Given the description of an element on the screen output the (x, y) to click on. 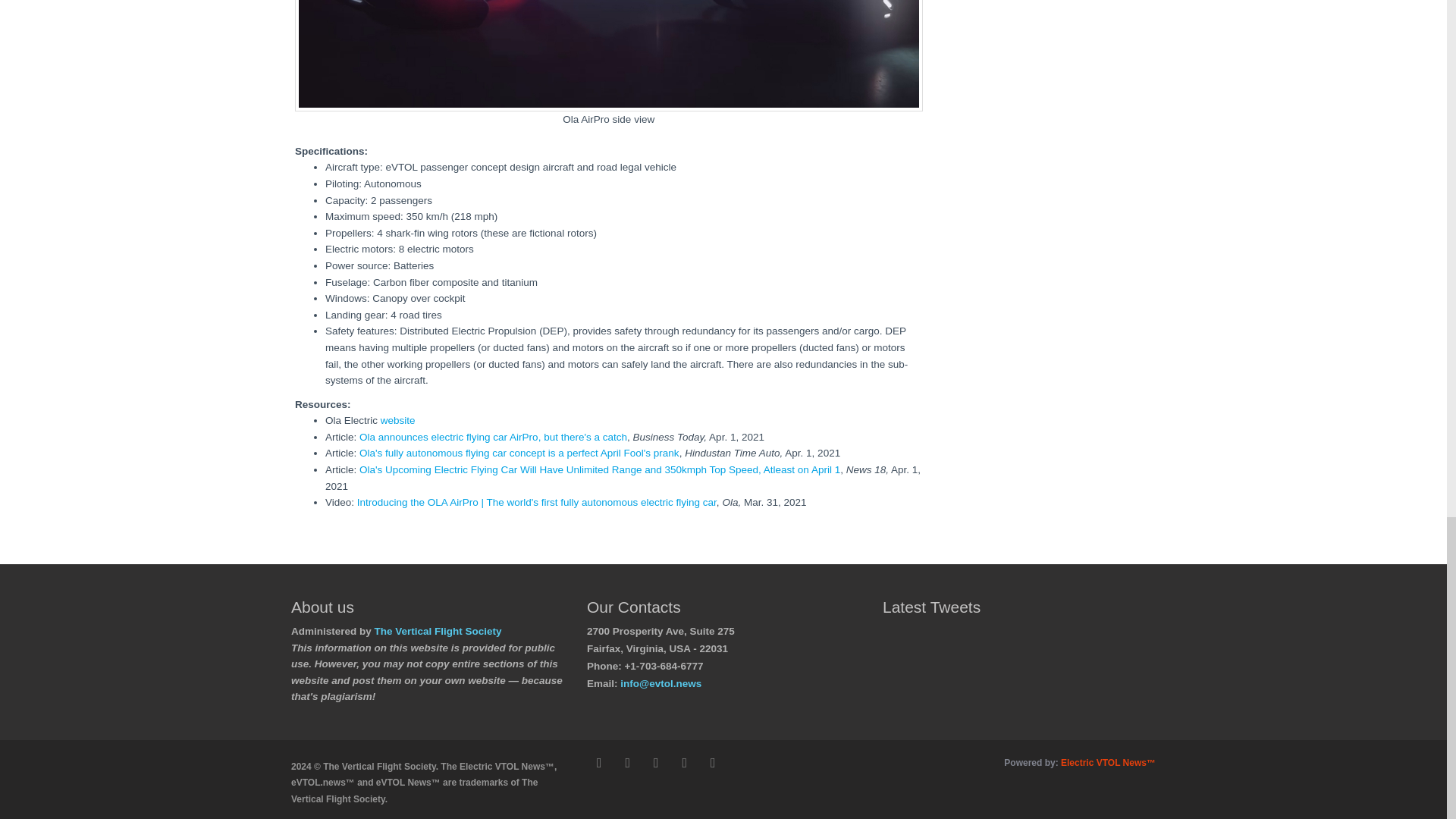
website (397, 419)
Ola AirPro side view (609, 55)
